Given the description of an element on the screen output the (x, y) to click on. 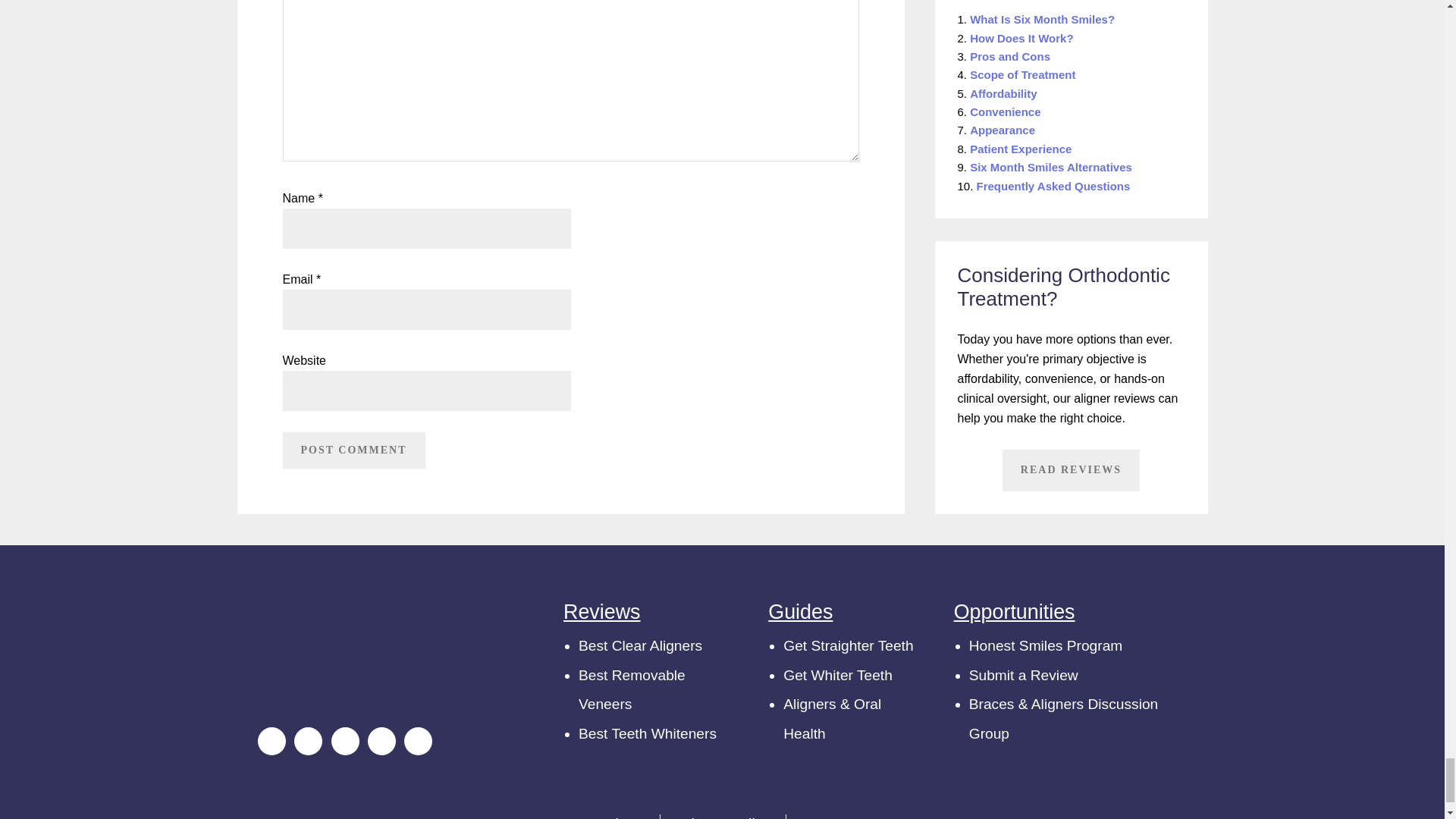
Submit a Review (1023, 675)
Get Straighter Teeth (847, 645)
Best Clear Aligners (639, 645)
Best Teeth Whiteners (647, 732)
Honest Smiles Program (1045, 645)
Best Removable Veneers (631, 689)
Get Whiter Teeth (837, 675)
Post Comment (353, 450)
